Given the description of an element on the screen output the (x, y) to click on. 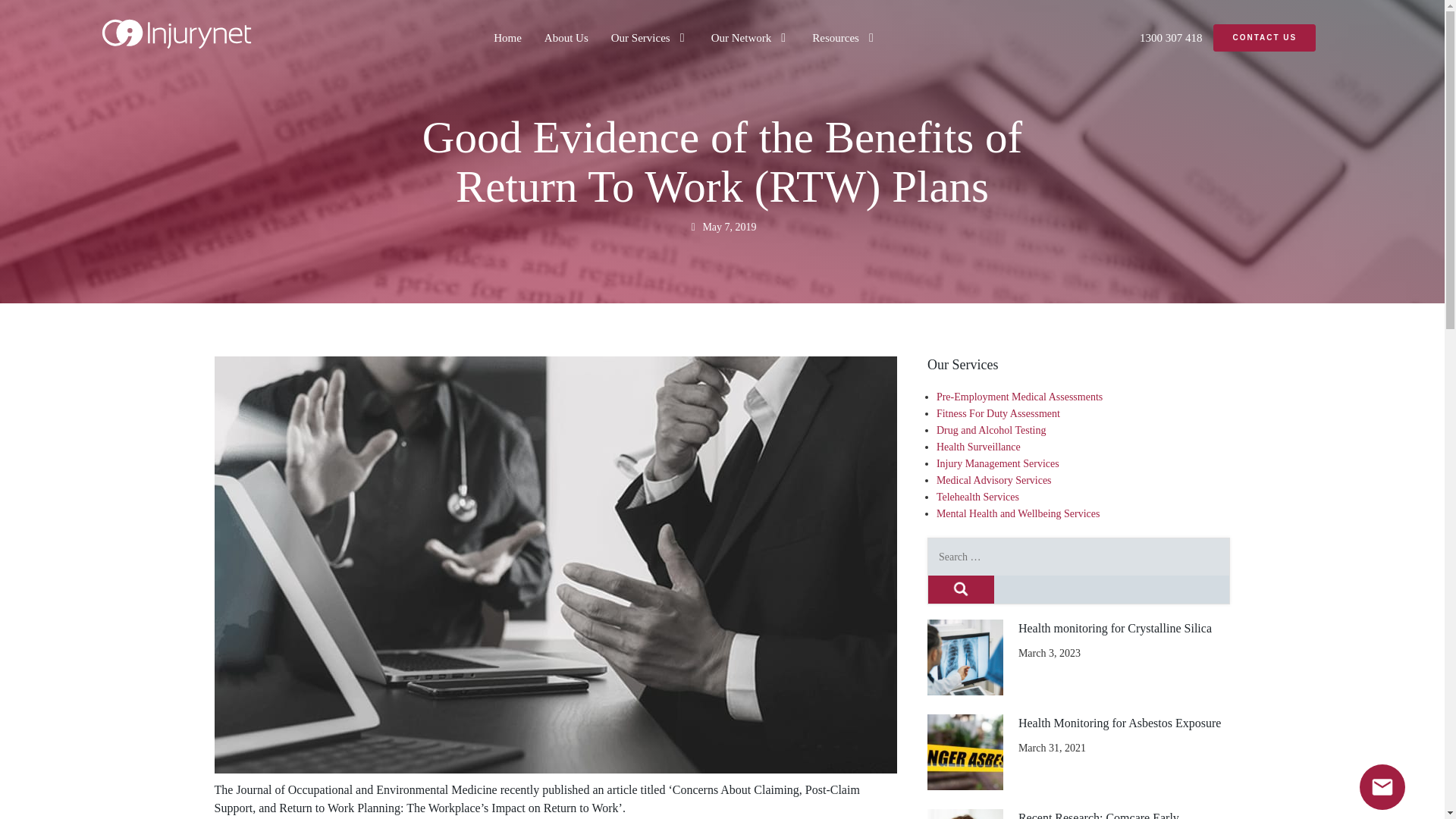
Search (961, 589)
Injury Management Services (997, 463)
Pre-Employment Medical Assessments (1019, 396)
Our Network (741, 37)
Fitness For Duty Assessment (997, 413)
Health monitoring for Crystalline Silica (965, 656)
1300 307 418 (1171, 37)
Resources (835, 37)
CONTACT US (1264, 37)
Our Services (640, 37)
Health Monitoring for Asbestos Exposure (965, 751)
Drug and Alcohol Testing (991, 430)
About Us (566, 37)
Leave a message (1382, 786)
Home (507, 37)
